Given the description of an element on the screen output the (x, y) to click on. 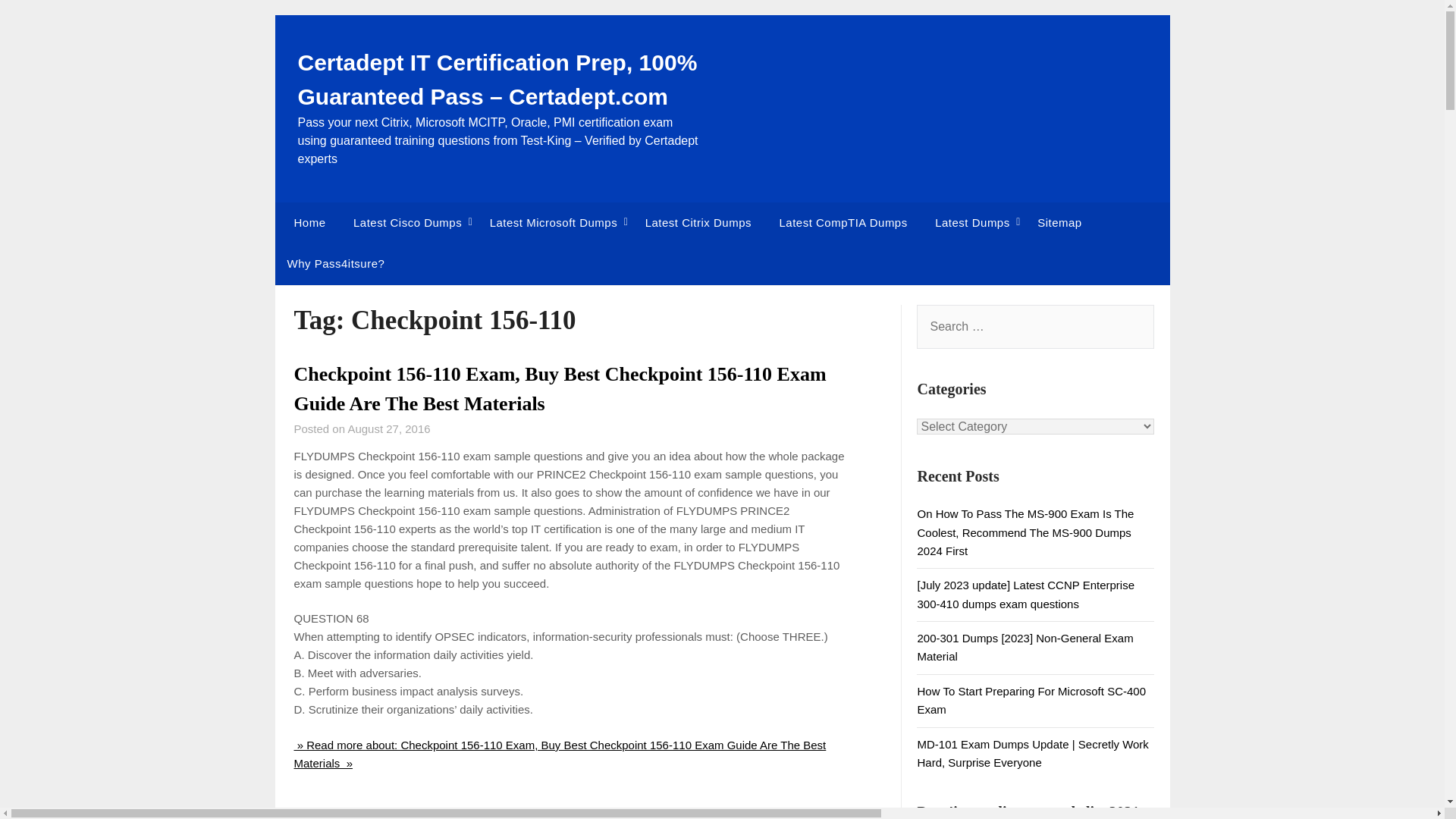
Latest CompTIA Dumps (842, 222)
Sitemap (1059, 222)
Latest Dumps (972, 222)
Latest Cisco Dumps (407, 222)
Latest Microsoft Dumps (553, 222)
Home (306, 222)
Latest Citrix Dumps (697, 222)
Why Pass4itsure? (335, 263)
